Given the description of an element on the screen output the (x, y) to click on. 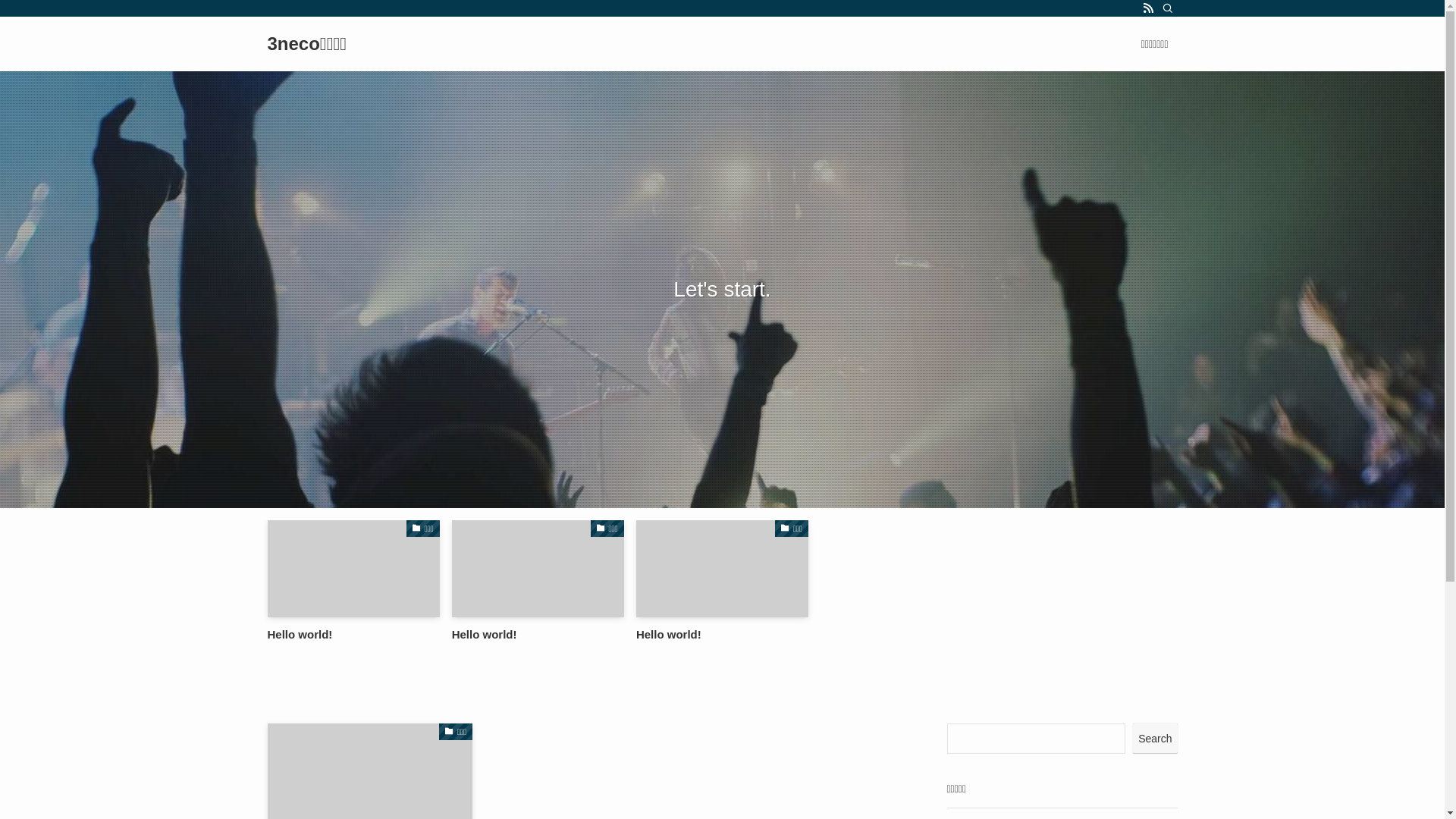
Search Element type: text (1154, 738)
search Element type: text (921, 421)
